Given the description of an element on the screen output the (x, y) to click on. 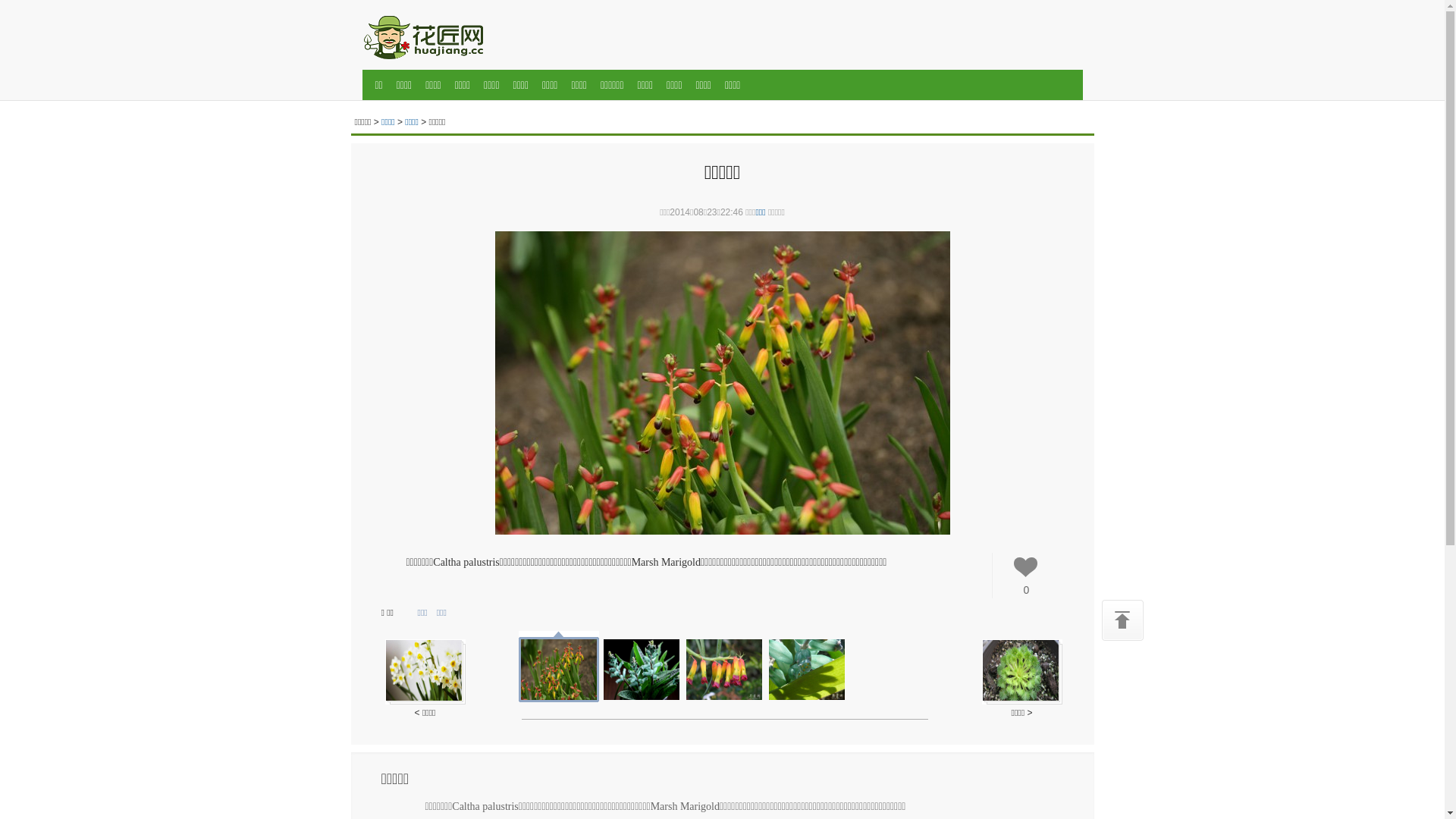
0 Element type: text (1025, 579)
